Given the description of an element on the screen output the (x, y) to click on. 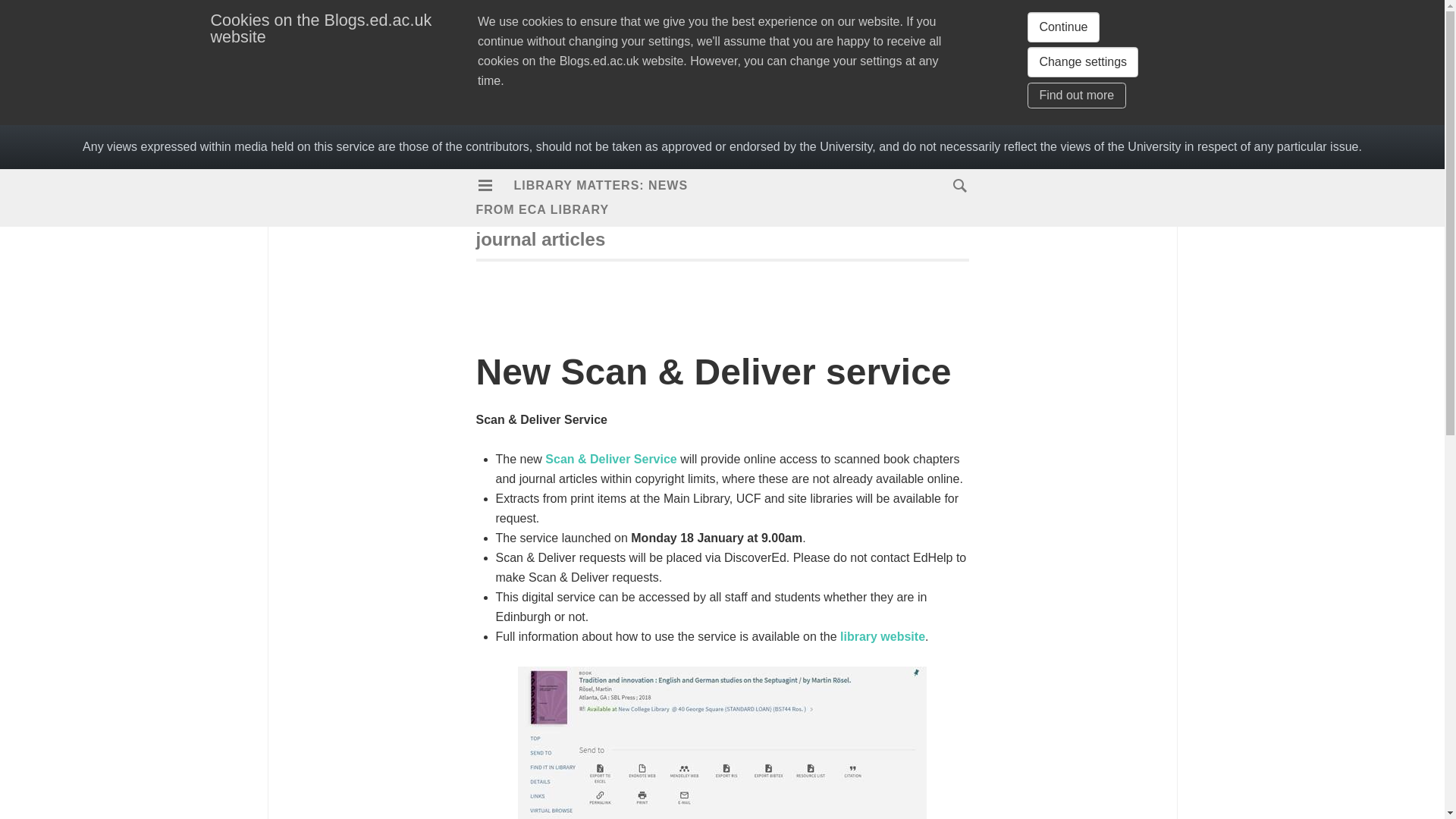
Continue (1063, 27)
Change settings (1082, 61)
LIBRARY MATTERS: NEWS FROM ECA LIBRARY (582, 197)
Search (42, 19)
Find out more (1076, 95)
Search for: (956, 185)
